Given the description of an element on the screen output the (x, y) to click on. 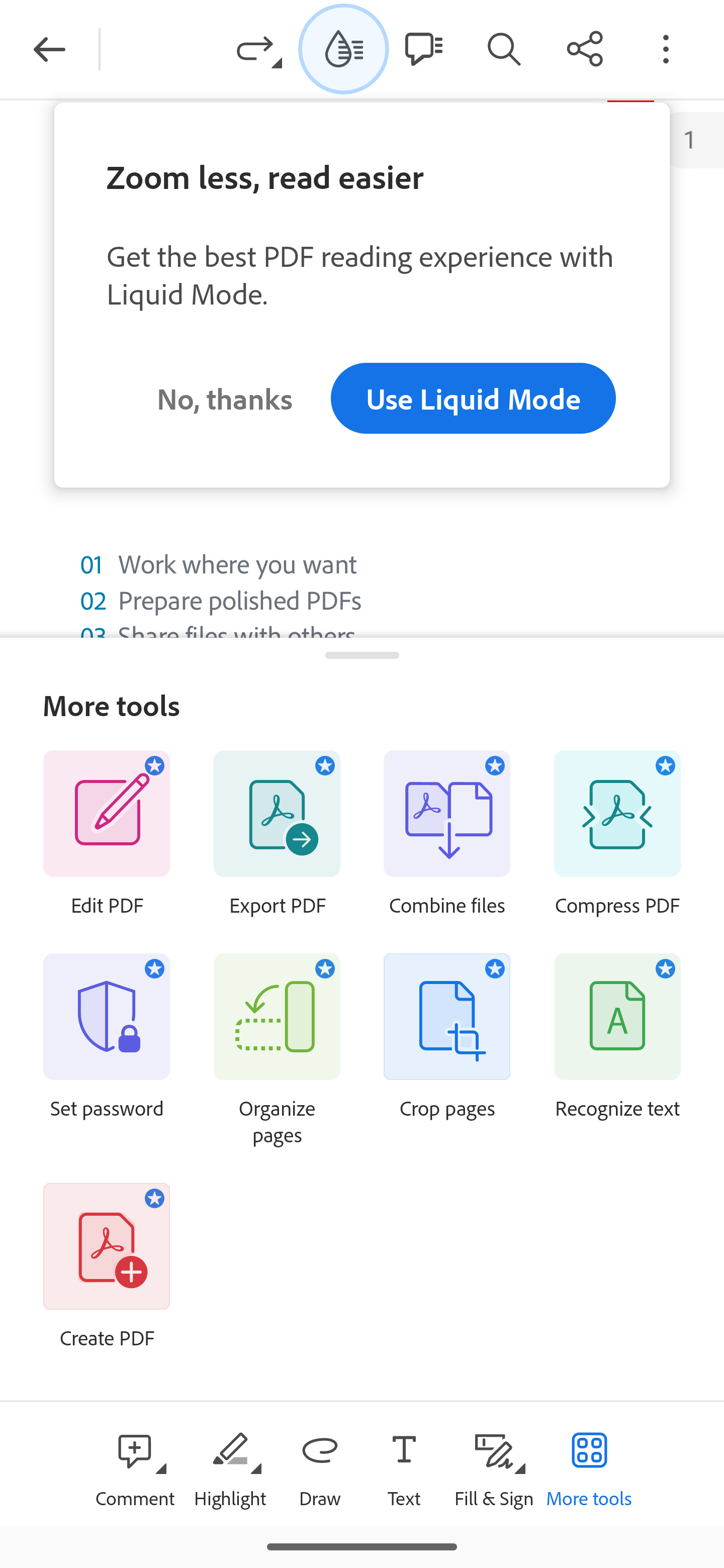
Back (49, 49)
Redo Edit(s) (259, 48)
Turn on Liquid Mode (343, 48)
Find keyword in document (503, 48)
Share this document with others (584, 48)
More options (665, 48)
Comments (423, 48)
Edit PDF (106, 852)
Export PDF (276, 852)
Combine files (446, 852)
Compress PDF (616, 852)
Set password (106, 1067)
Organize pages (276, 1067)
Crop pages (446, 1067)
Recognize text (616, 1067)
Create PDF (106, 1284)
Comment (134, 1463)
Highlight (229, 1463)
Draw (319, 1463)
Text (404, 1463)
Fill & Sign (493, 1463)
More tools (588, 1463)
